Given the description of an element on the screen output the (x, y) to click on. 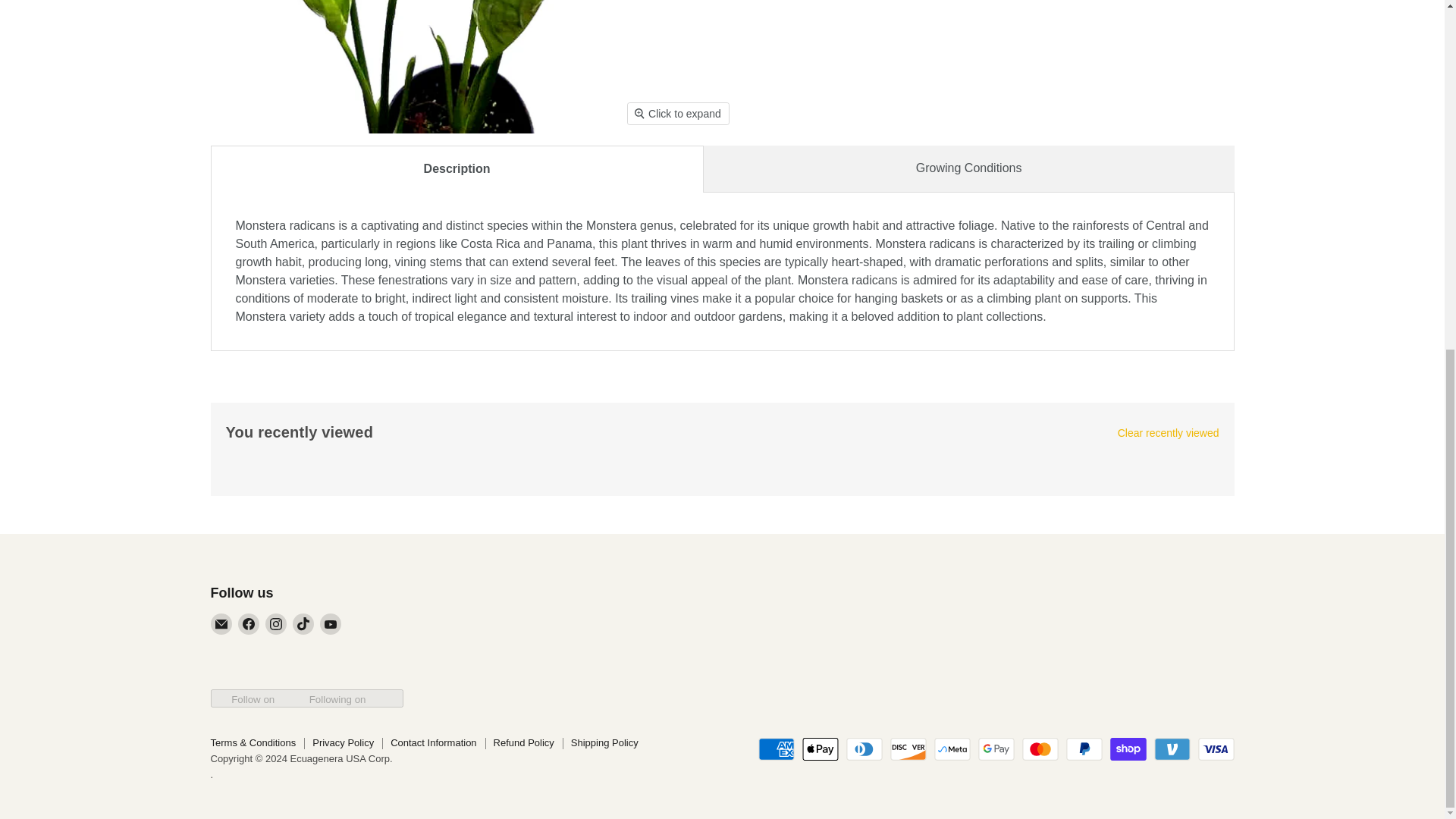
YouTube (330, 623)
Facebook (248, 623)
Email (221, 623)
TikTok (303, 623)
Instagram (275, 623)
